Given the description of an element on the screen output the (x, y) to click on. 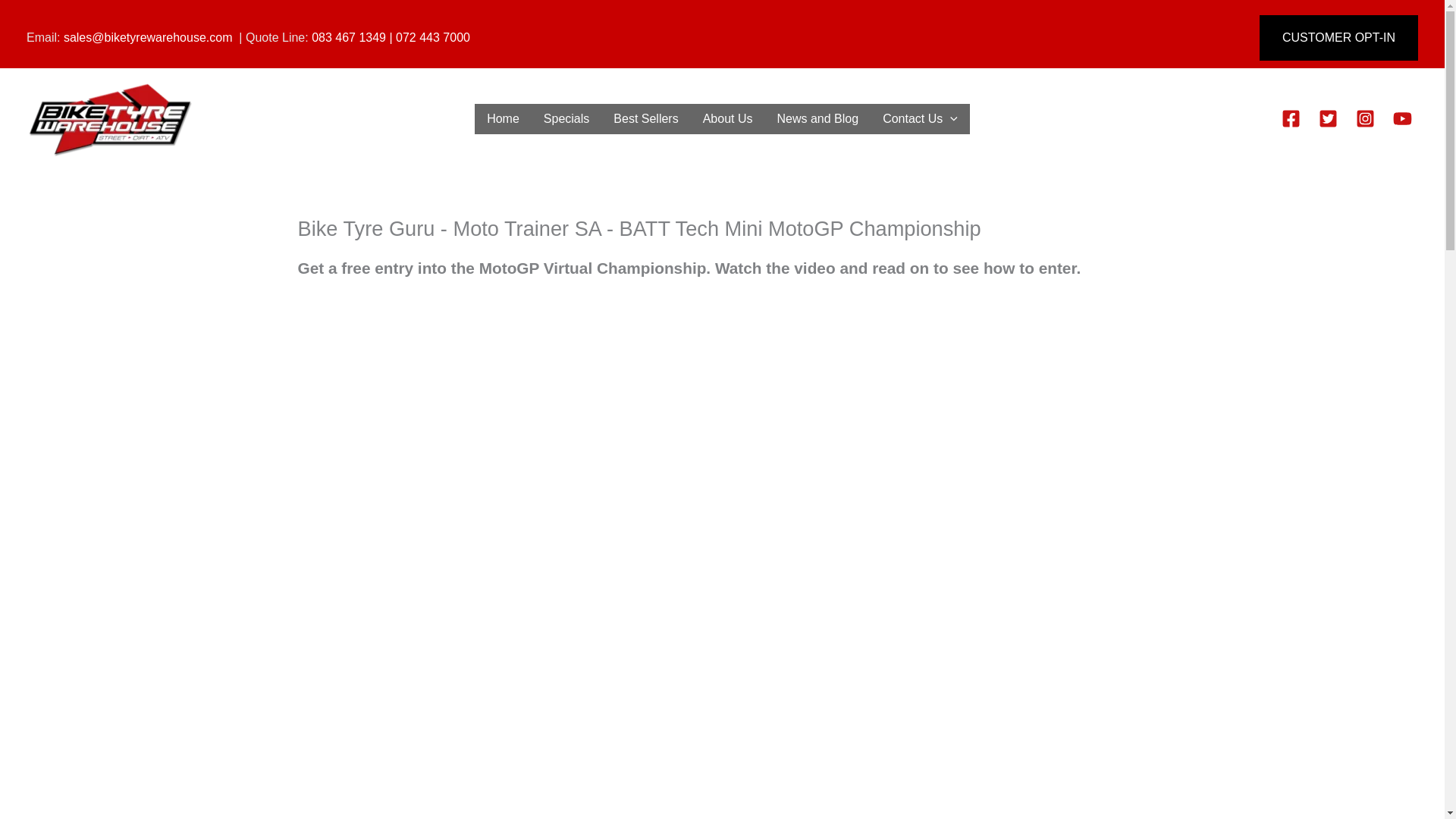
Contact Us (919, 119)
Home (502, 119)
News and Blog (817, 119)
CUSTOMER OPT-IN (1338, 37)
072 443 7000 (433, 37)
Specials (566, 119)
About Us (727, 119)
083 467 1349 (348, 37)
Best Sellers (645, 119)
